Given the description of an element on the screen output the (x, y) to click on. 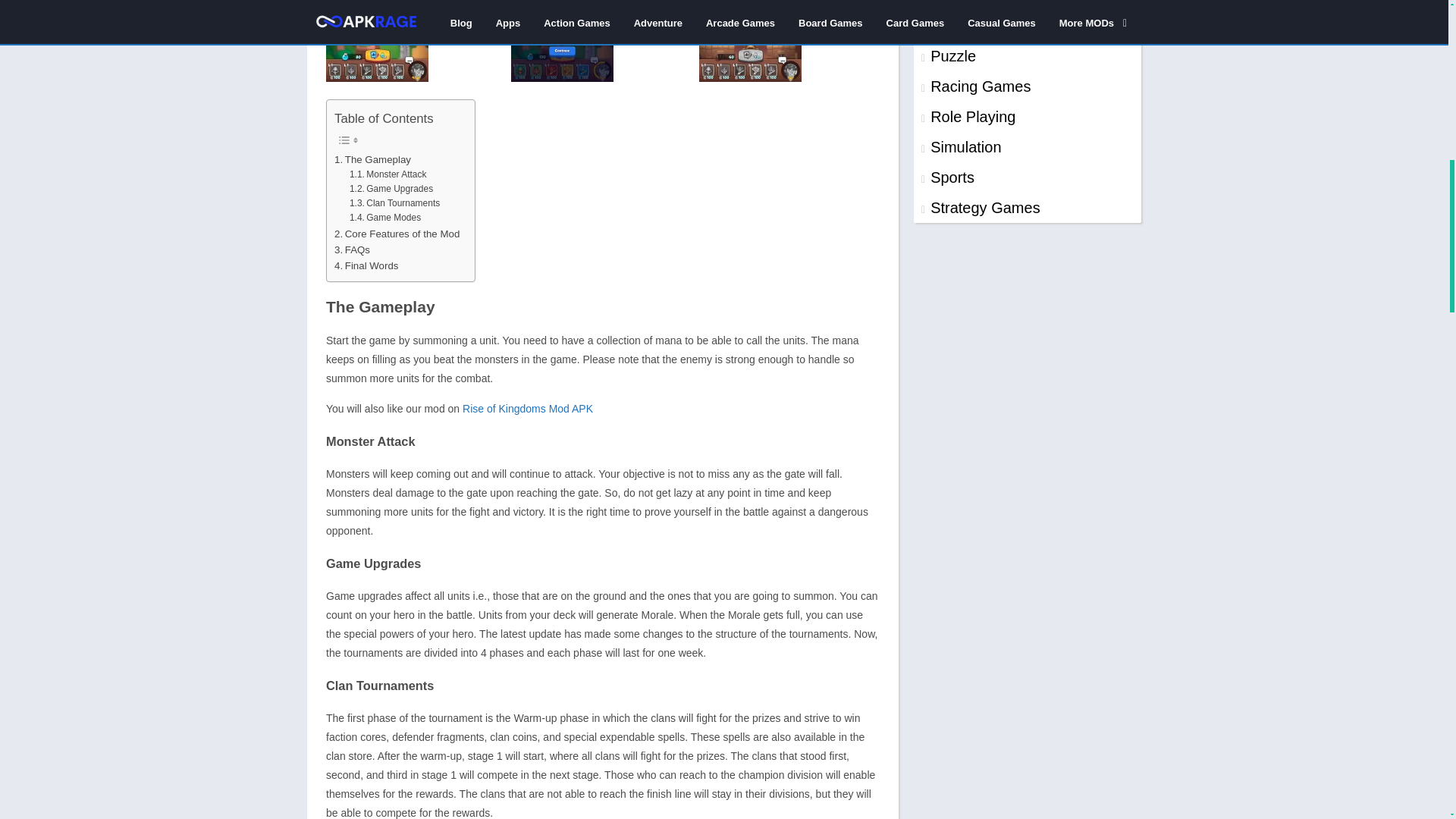
Game Upgrades (390, 188)
Clan Tournaments (394, 203)
The Gameplay (372, 159)
FAQs (351, 249)
Game Modes (384, 217)
Final Words (365, 265)
Core Features of the Mod (397, 233)
Monster Attack (387, 174)
